Given the description of an element on the screen output the (x, y) to click on. 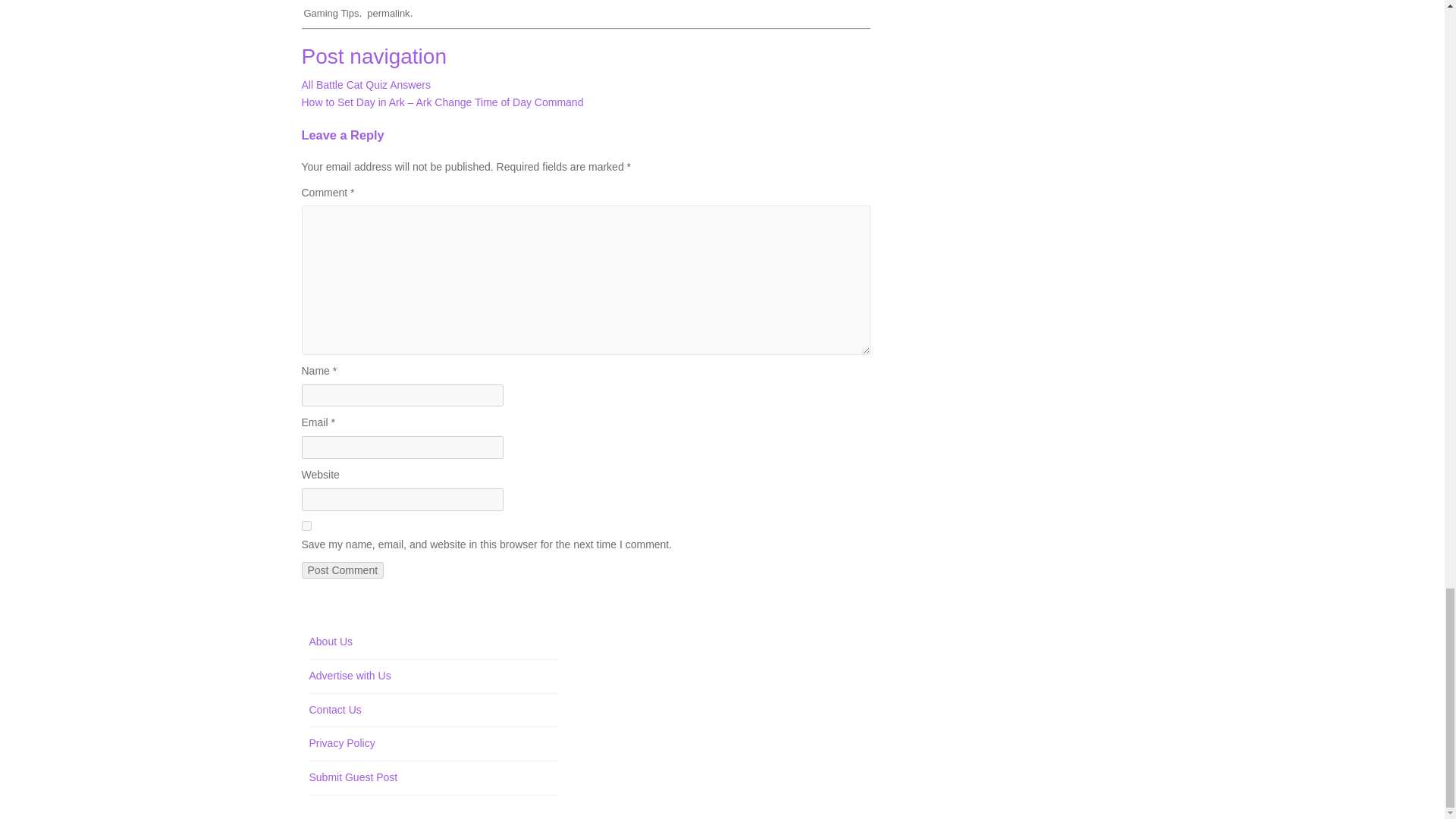
About Us (330, 641)
Post Comment (342, 569)
All Battle Cat Quiz Answers (365, 84)
Gaming Tips (330, 12)
Contact Us (334, 709)
permalink (387, 12)
Advertise with Us (349, 675)
Privacy Policy (341, 743)
Post Comment (342, 569)
yes (306, 525)
